Given the description of an element on the screen output the (x, y) to click on. 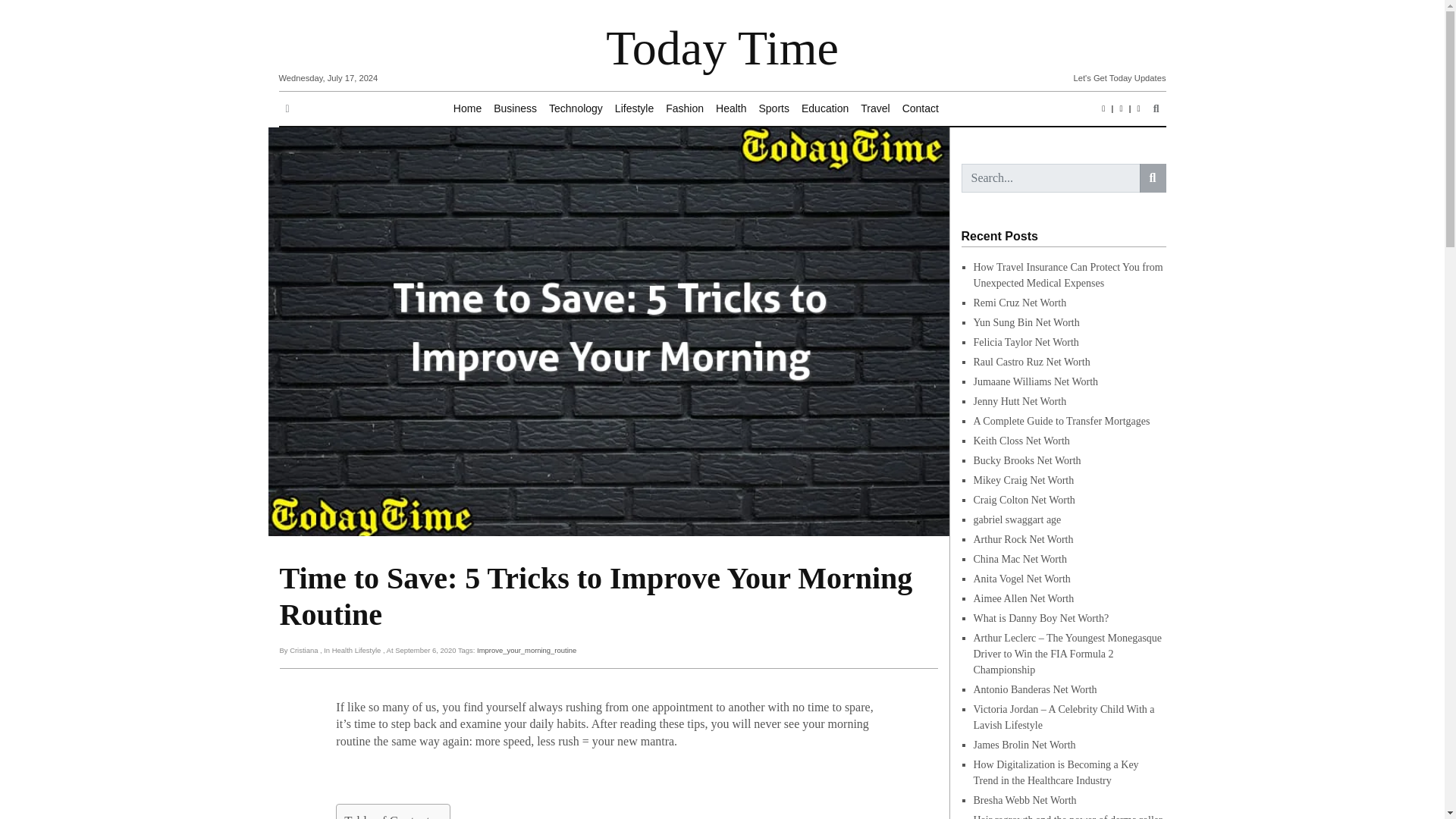
Contact (920, 108)
Travel (874, 108)
facebook (1103, 108)
Health (731, 108)
Education (824, 108)
Home (466, 108)
Health (731, 108)
Fashion (684, 108)
Technology (575, 108)
Technology (575, 108)
Lifestyle (633, 108)
Home (466, 108)
Sports (773, 108)
Business (515, 108)
Travel (874, 108)
